Given the description of an element on the screen output the (x, y) to click on. 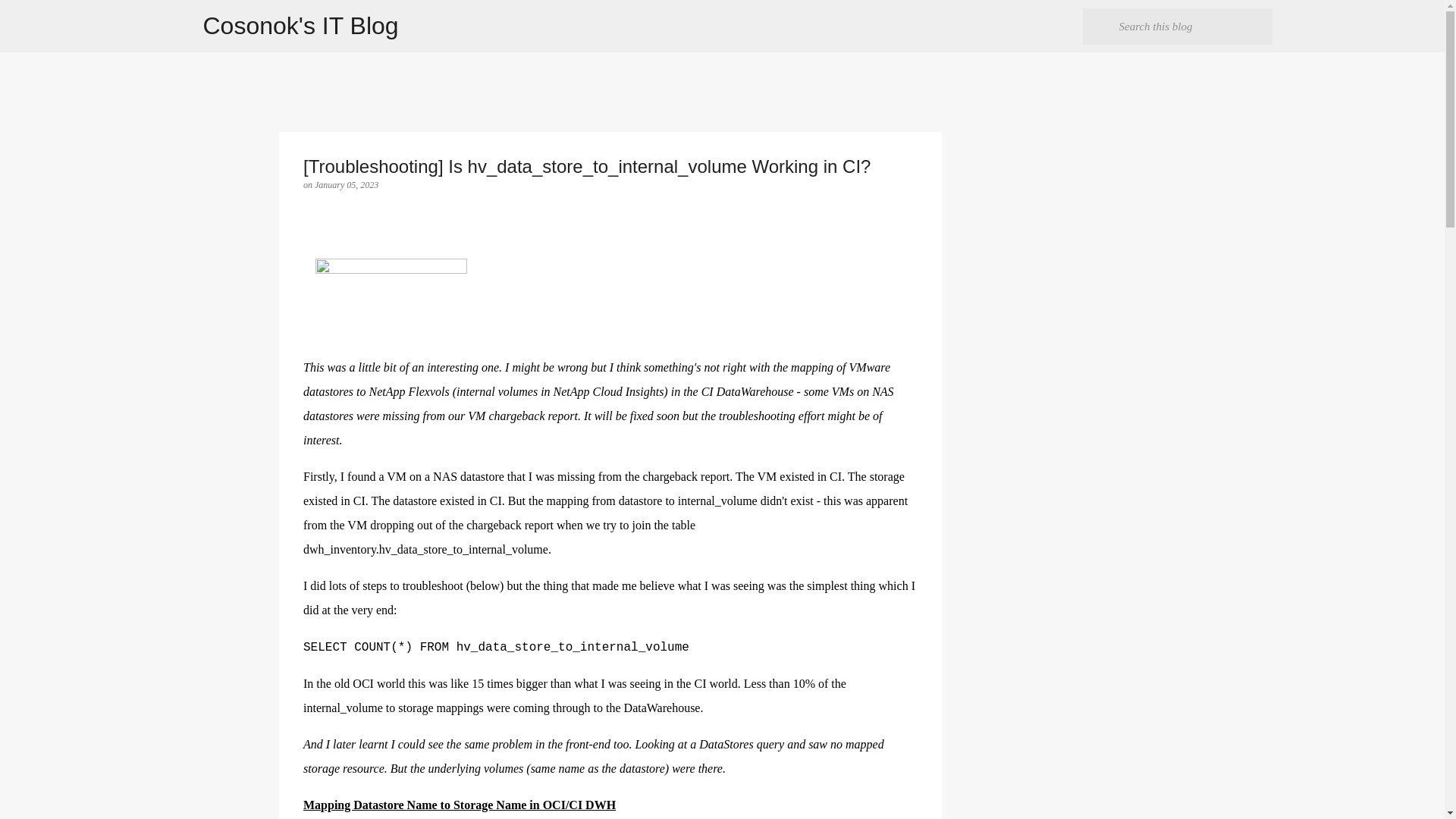
permanent link (346, 184)
Cosonok's IT Blog (300, 25)
January 05, 2023 (346, 184)
